Given the description of an element on the screen output the (x, y) to click on. 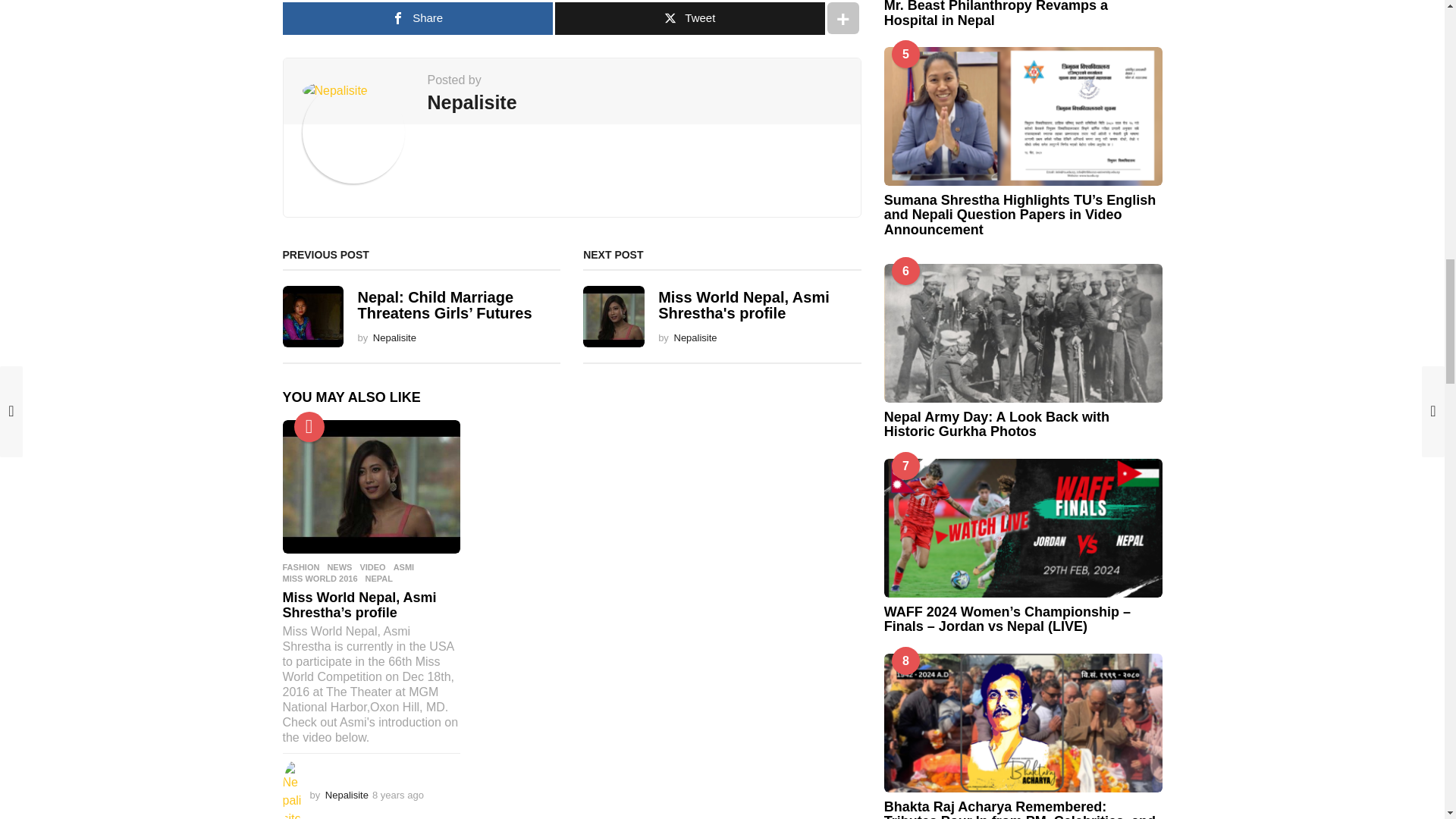
Trending (309, 426)
